Given the description of an element on the screen output the (x, y) to click on. 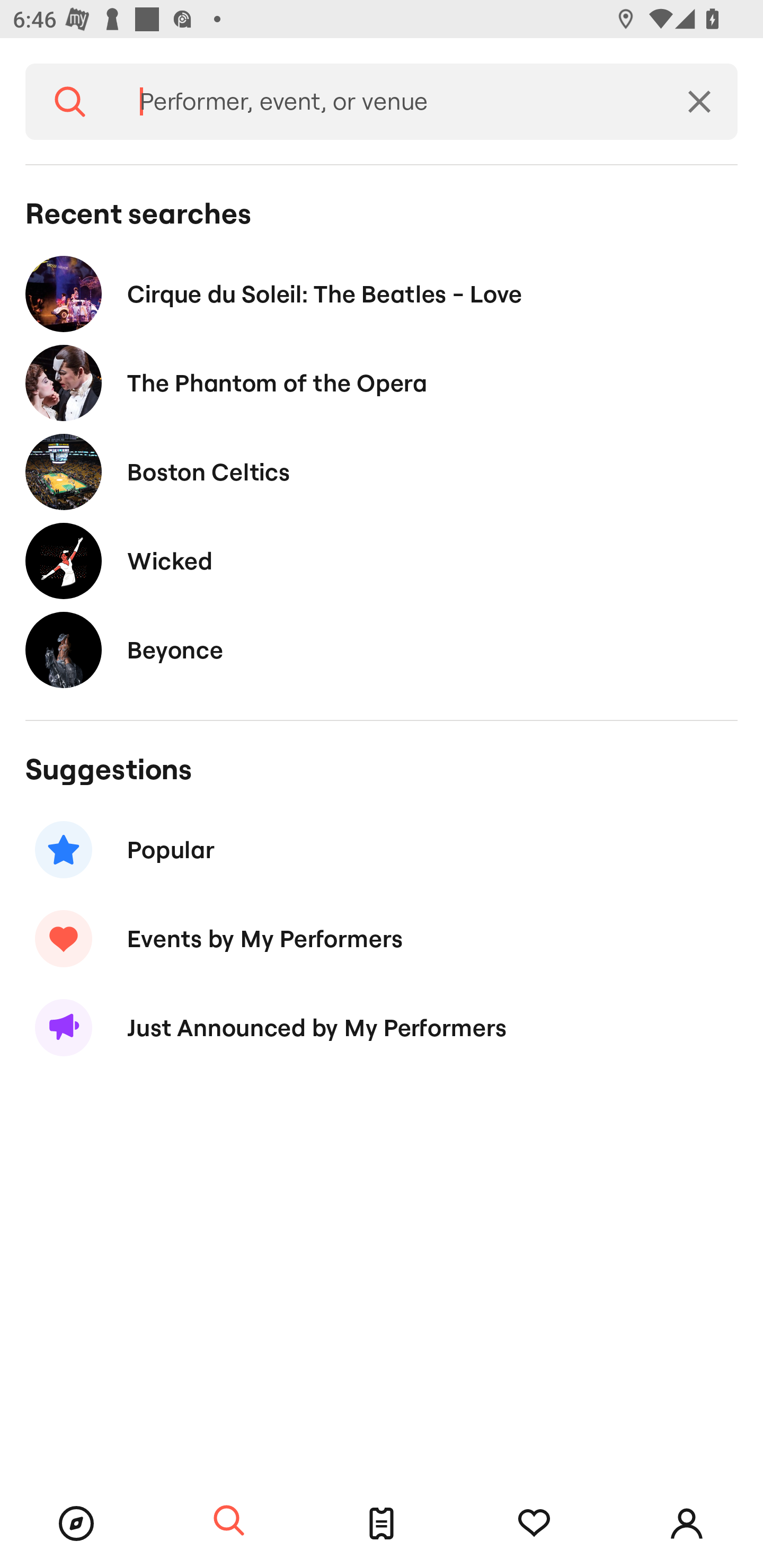
Search (69, 101)
Performer, event, or venue (387, 101)
Clear (699, 101)
Cirque du Soleil: The Beatles - Love (381, 293)
The Phantom of the Opera (381, 383)
Boston Celtics (381, 471)
Wicked (381, 560)
Beyonce (381, 649)
Popular (381, 849)
Events by My Performers (381, 938)
Just Announced by My Performers (381, 1027)
Browse (76, 1523)
Search (228, 1521)
Tickets (381, 1523)
Tracking (533, 1523)
Account (686, 1523)
